Given the description of an element on the screen output the (x, y) to click on. 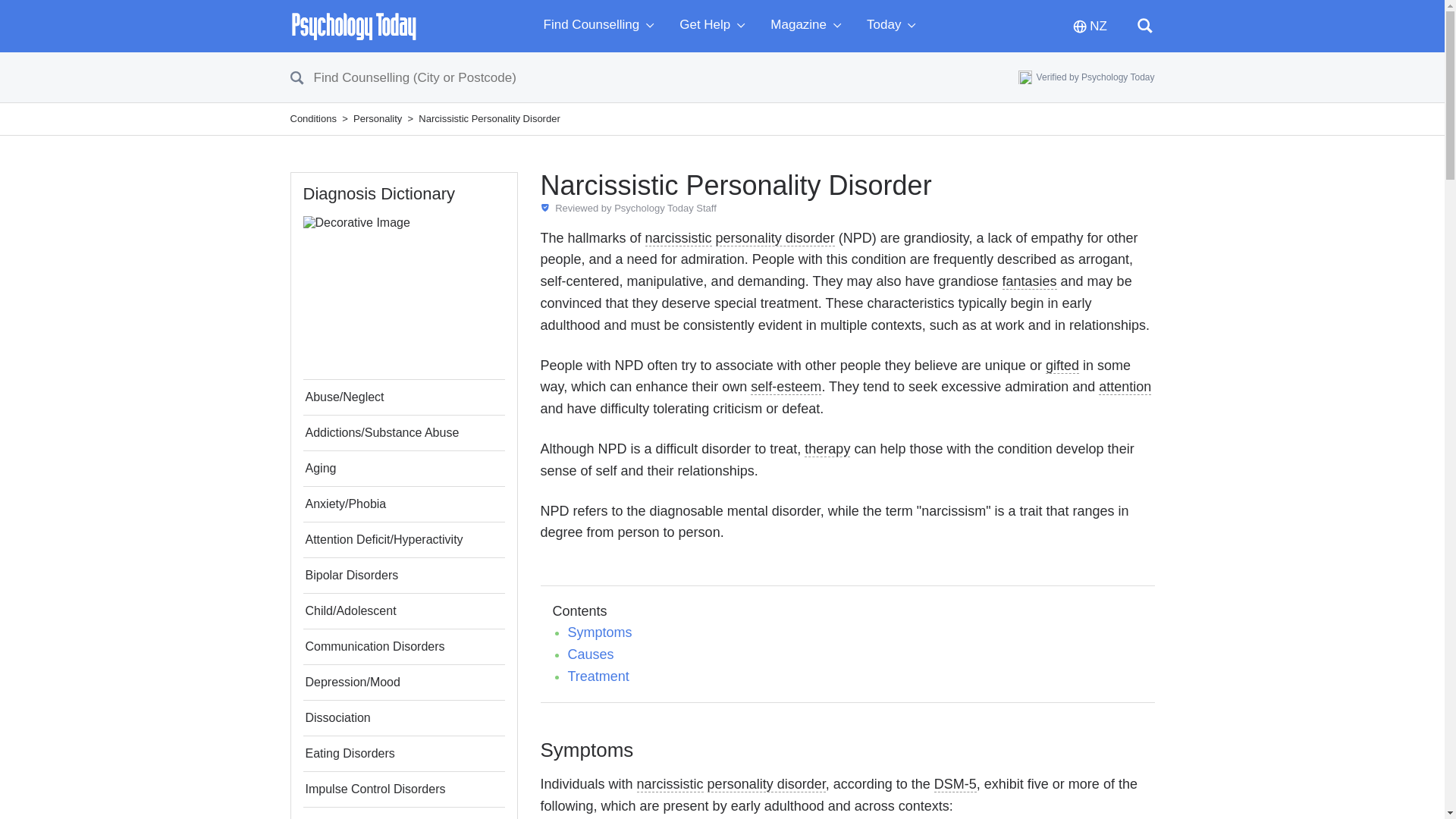
Get Help (715, 25)
Psychology Today (352, 25)
Find Counselling (602, 25)
